Given the description of an element on the screen output the (x, y) to click on. 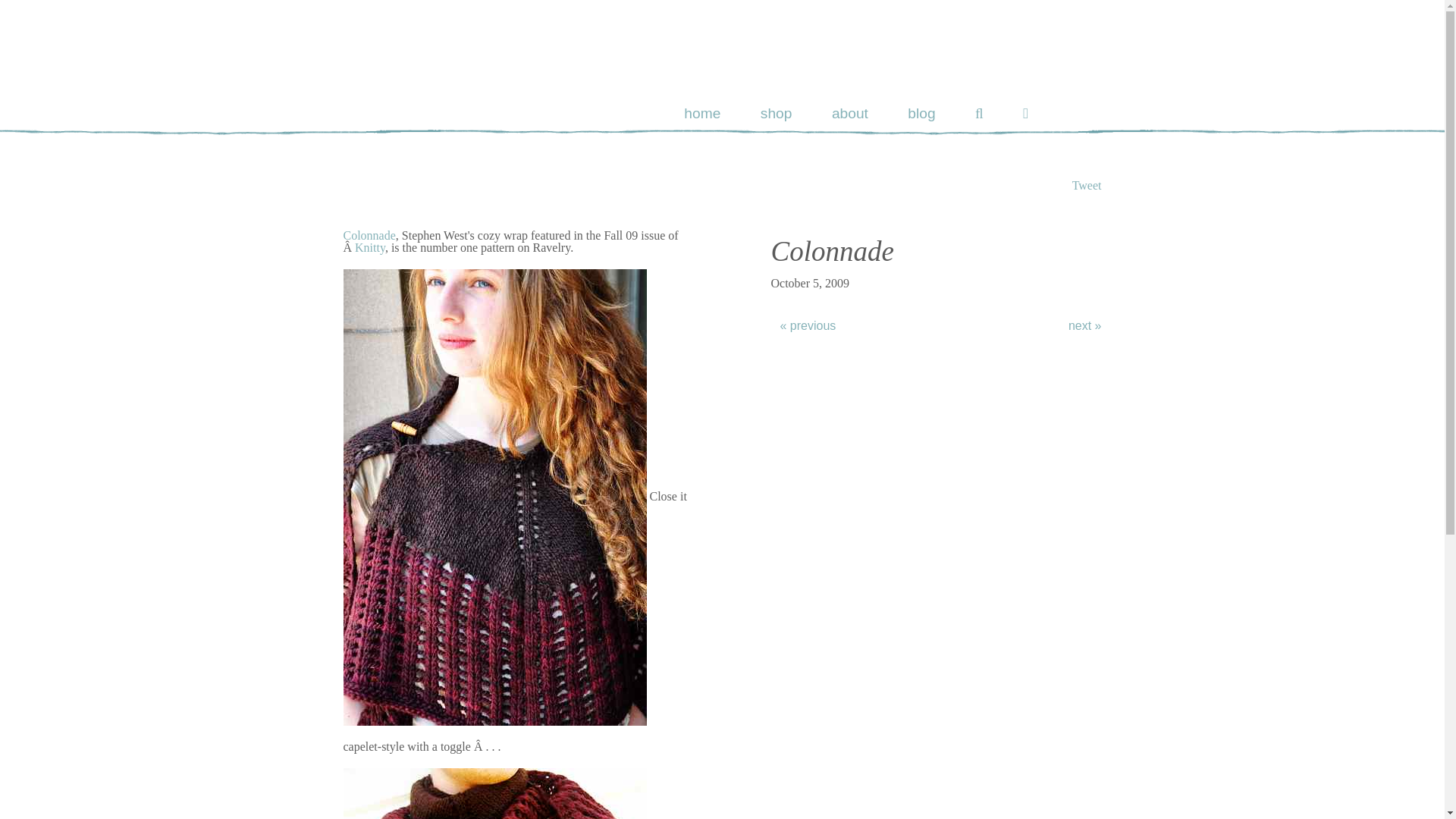
Colonnade (368, 235)
home (702, 113)
shop (776, 113)
about (849, 113)
Knitty (370, 246)
blog (920, 113)
colannade 2 (494, 793)
Tweet (1086, 185)
